Given the description of an element on the screen output the (x, y) to click on. 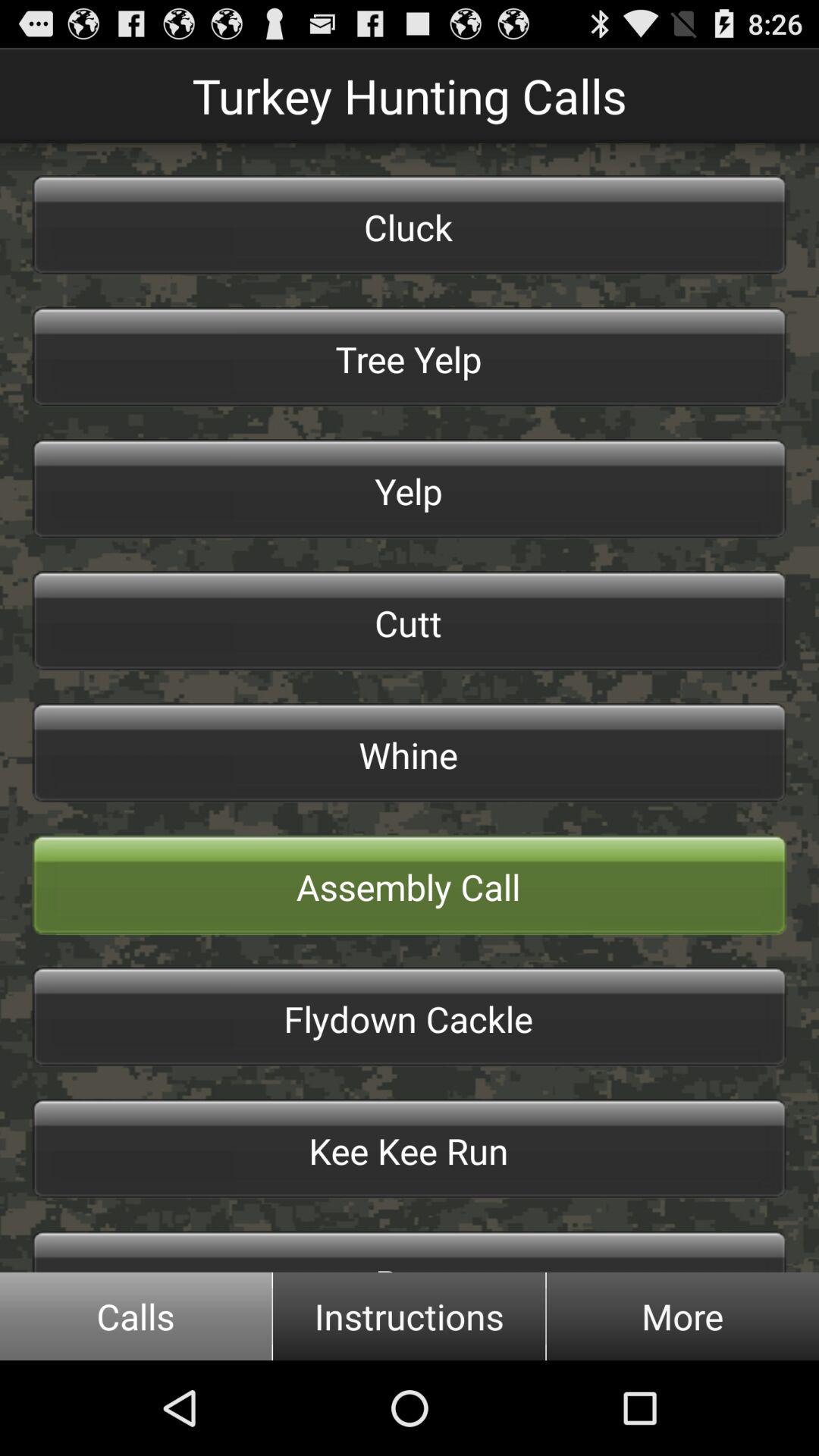
turn off item above the assembly call item (409, 752)
